Given the description of an element on the screen output the (x, y) to click on. 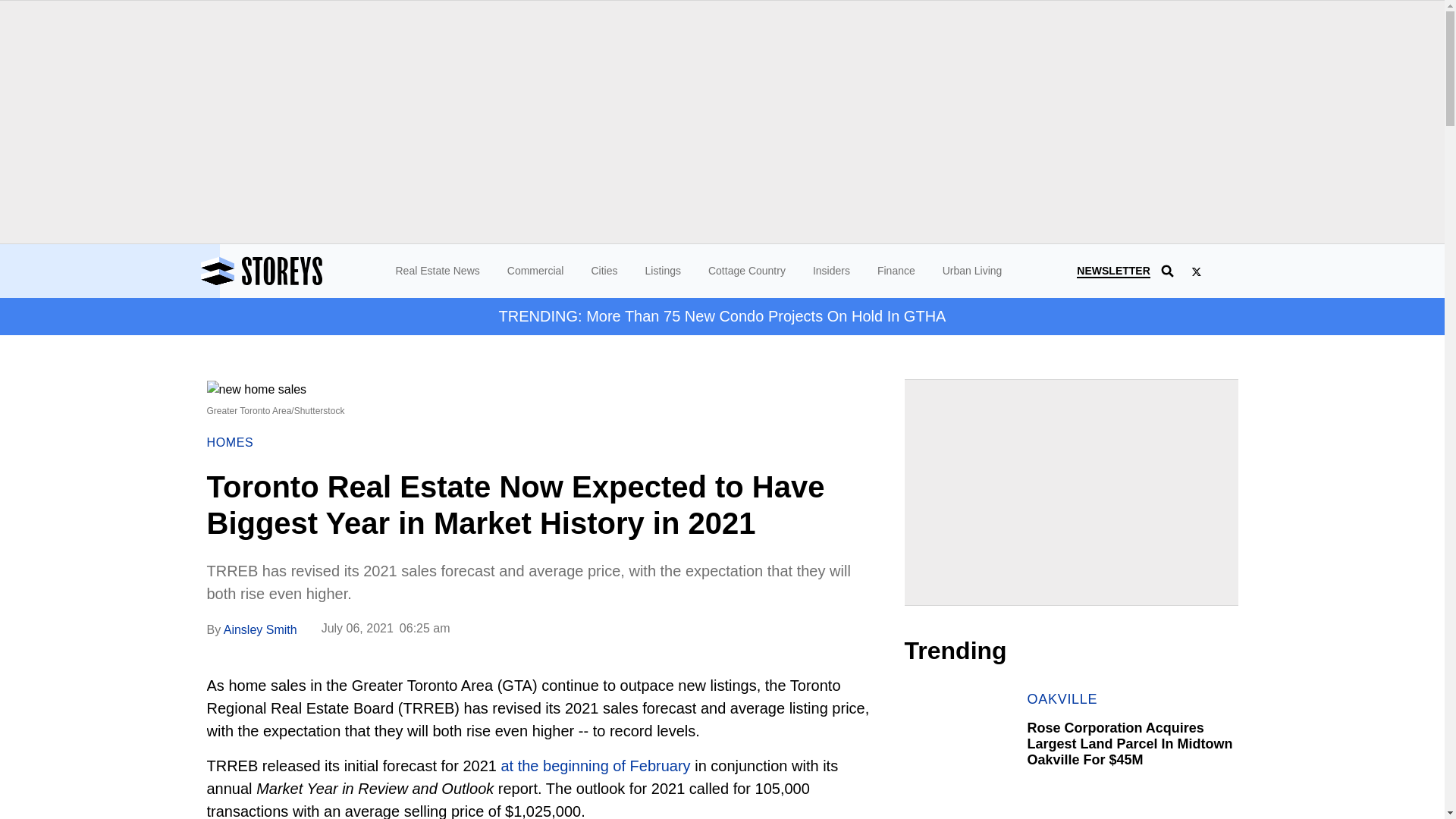
Real Estate News (437, 270)
Listings (662, 270)
Storeys - Real Estate News in Canada (302, 270)
Commercial (535, 270)
Cities (603, 270)
Cottage Country (746, 270)
